Given the description of an element on the screen output the (x, y) to click on. 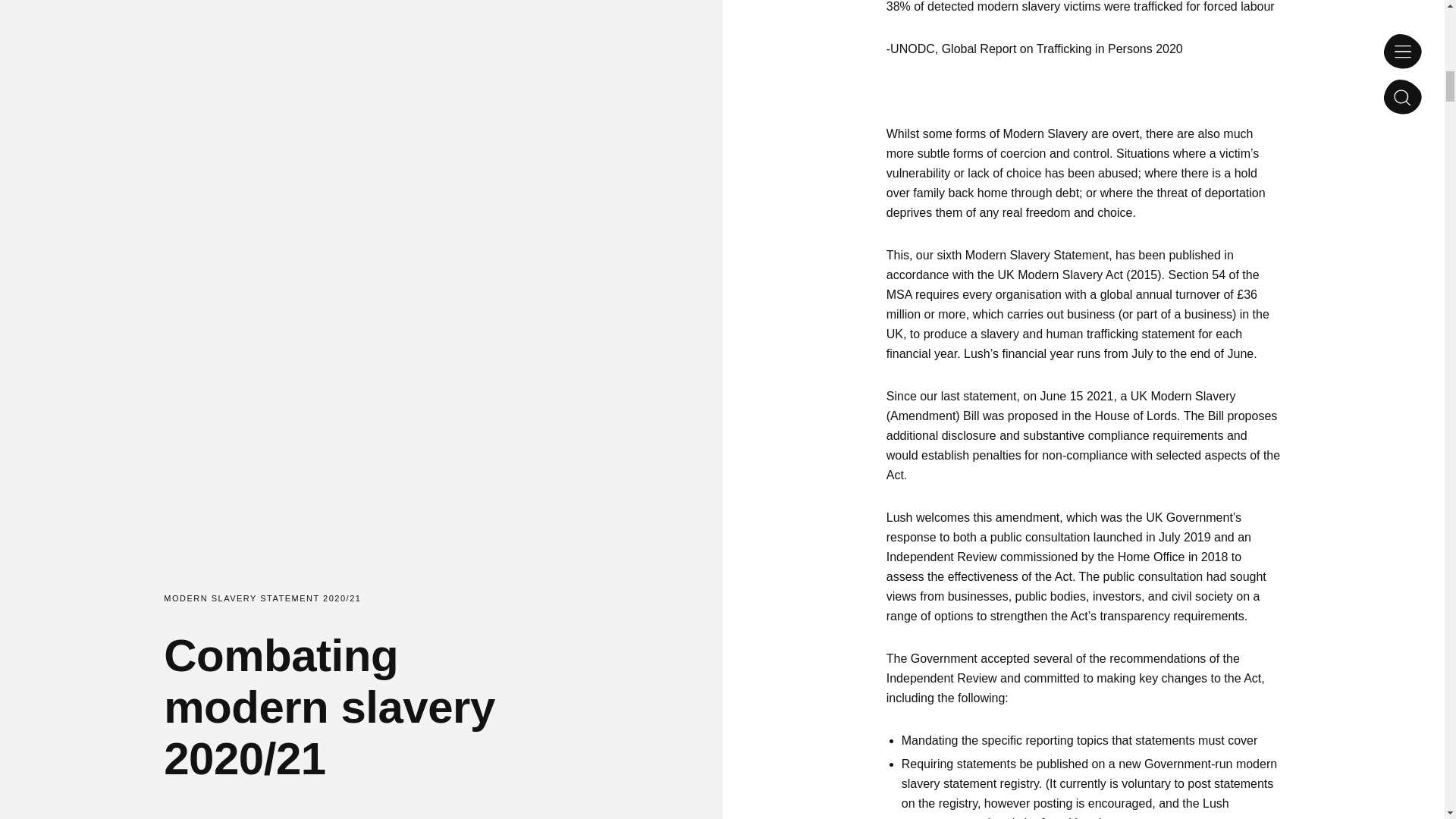
found here (1070, 817)
